Given the description of an element on the screen output the (x, y) to click on. 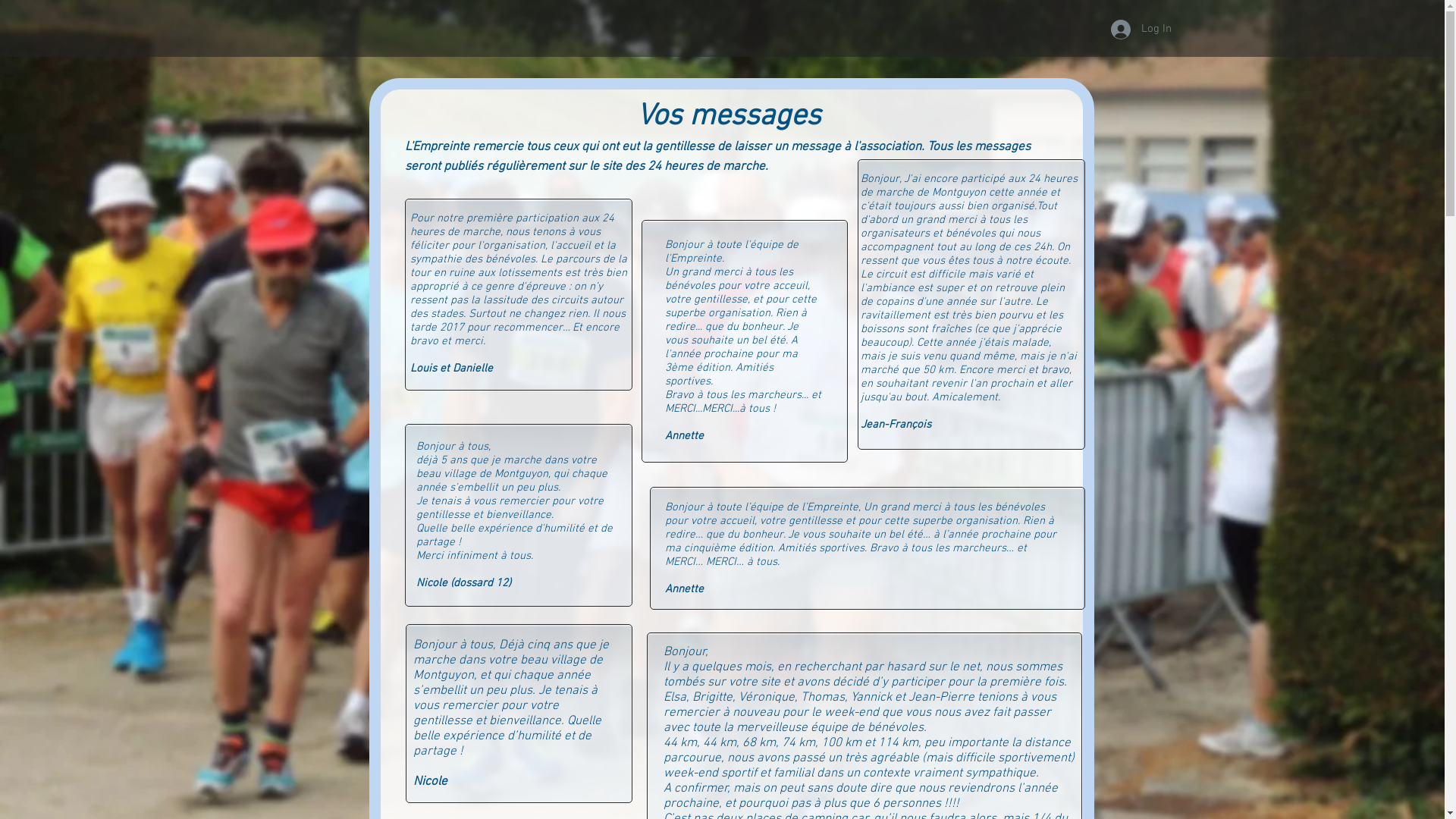
Log In Element type: text (1130, 29)
